Given the description of an element on the screen output the (x, y) to click on. 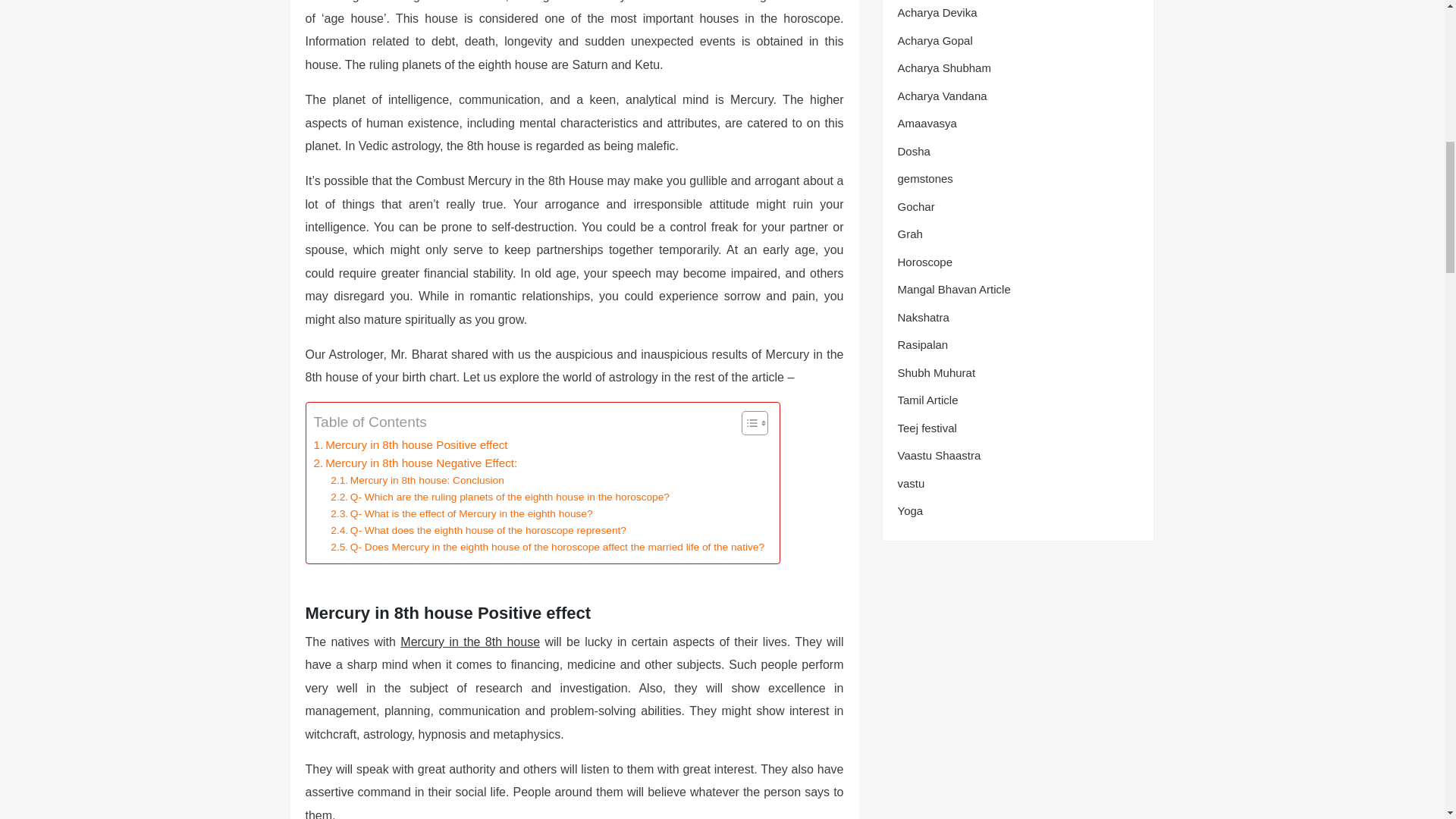
Mercury in 8th house Positive effect (411, 444)
Mercury in 8th house Negative Effect: (416, 463)
Mercury in 8th house: Conclusion (416, 480)
Mercury in 8th house Positive effect (411, 444)
Q- What does the eighth house of the horoscope represent? (478, 530)
Q- What does the eighth house of the horoscope represent? (478, 530)
Q- What is the effect of Mercury in the eighth house? (461, 514)
